Given the description of an element on the screen output the (x, y) to click on. 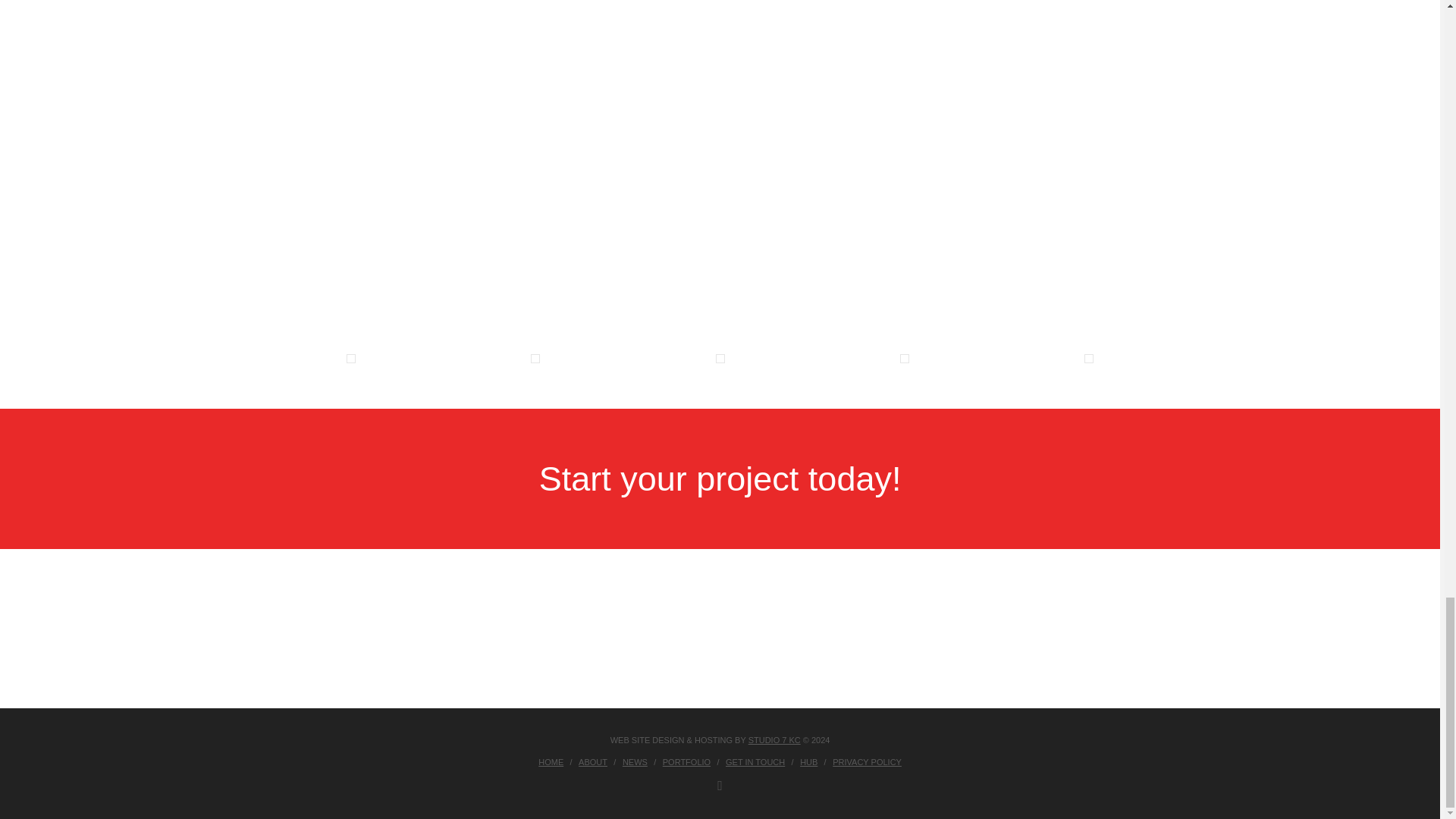
PORTFOLIO (686, 761)
NEWS (635, 761)
STUDIO 7 KC (774, 739)
HOME (550, 761)
ABOUT (592, 761)
